Given the description of an element on the screen output the (x, y) to click on. 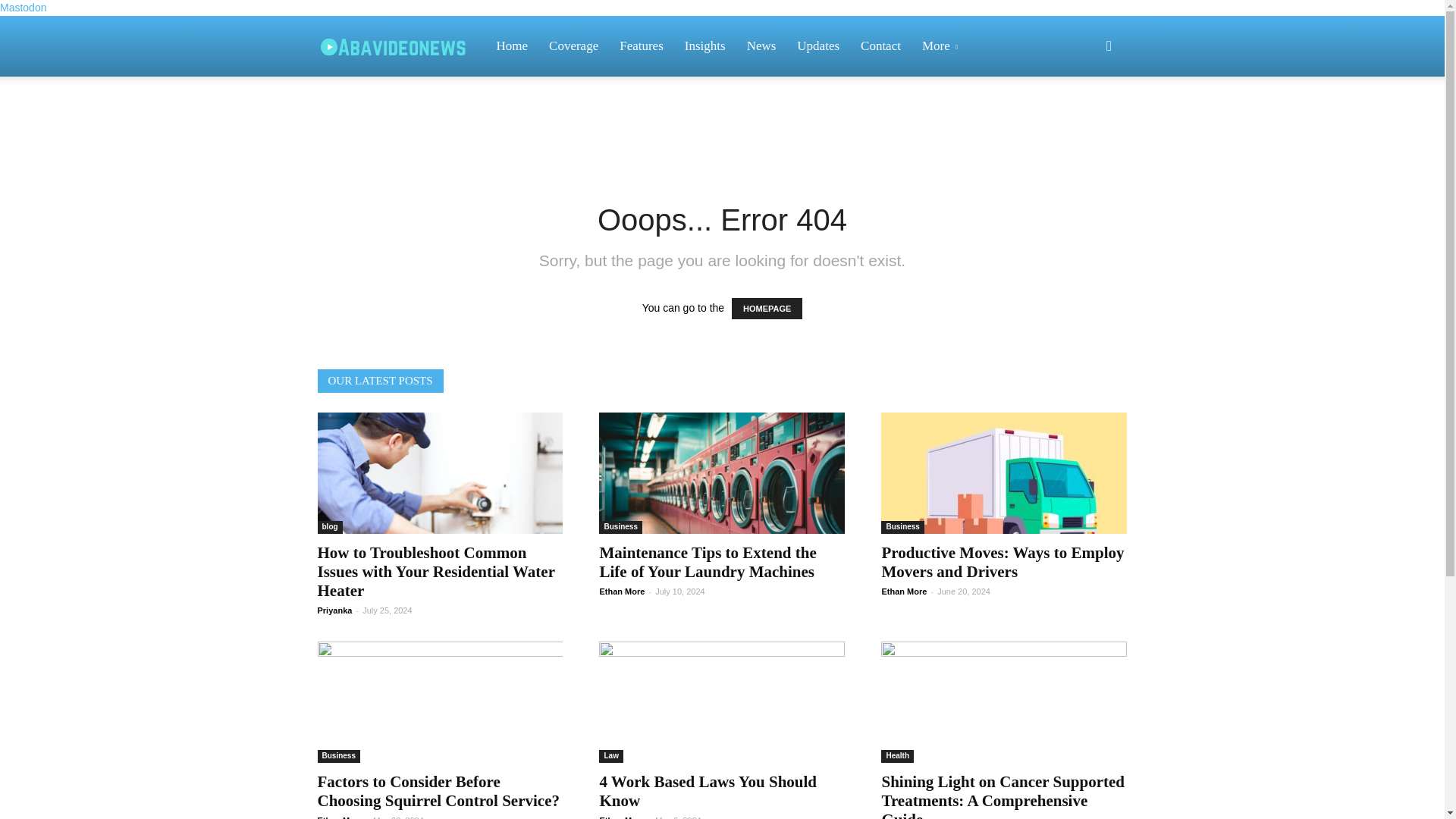
blog (329, 526)
Contact (880, 45)
Maintenance Tips to Extend the Life of Your Laundry Machines (721, 472)
Maintenance Tips to Extend the Life of Your Laundry Machines (706, 561)
Features (641, 45)
Insights (705, 45)
Productive Moves: Ways to Employ Movers and Drivers (1002, 561)
